Given the description of an element on the screen output the (x, y) to click on. 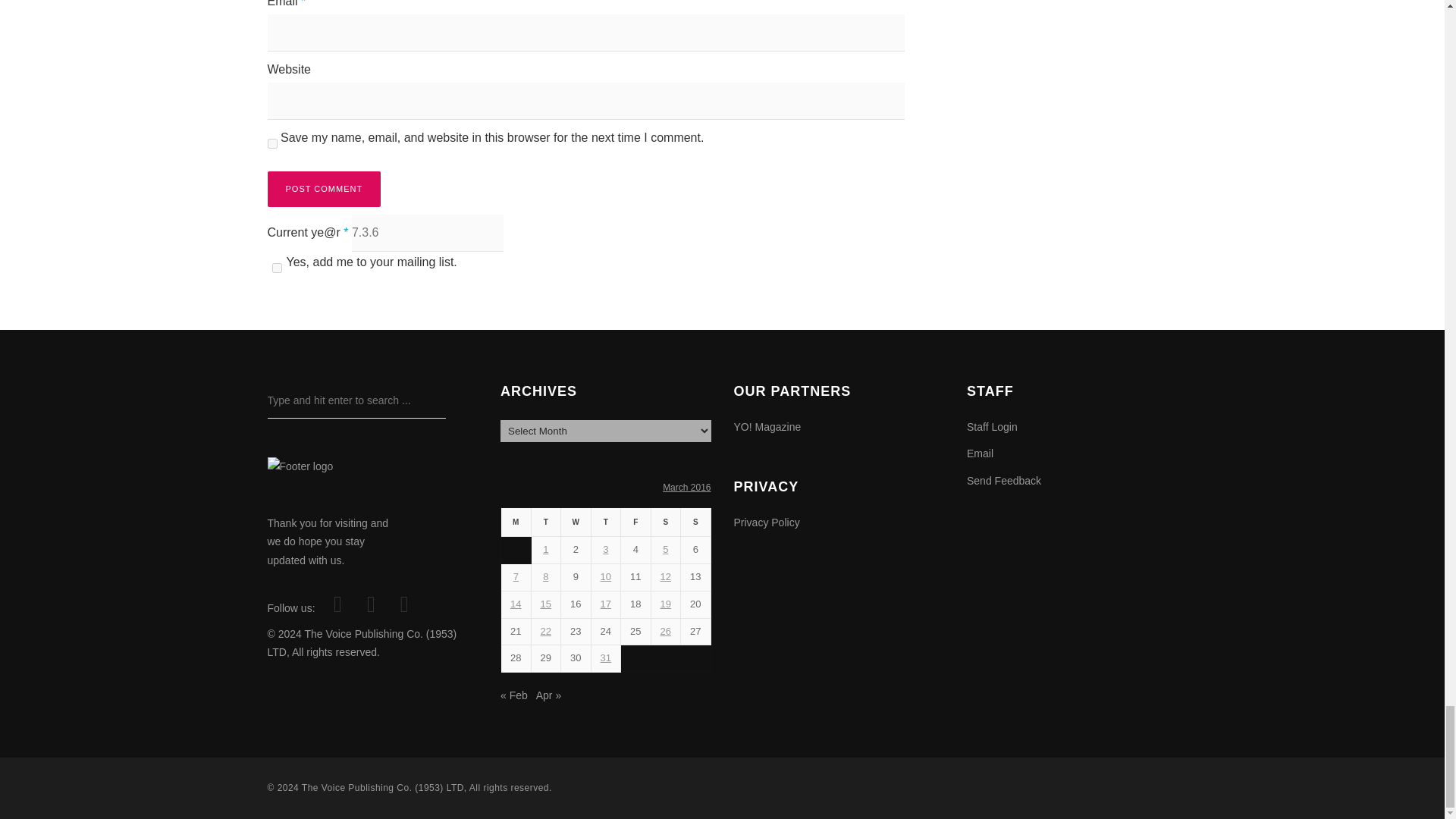
7.3.6 (427, 232)
1 (275, 267)
Post Comment (323, 189)
Monday (515, 522)
Type and hit enter to search ... (355, 400)
yes (271, 143)
Type and hit enter to search ... (355, 400)
